Given the description of an element on the screen output the (x, y) to click on. 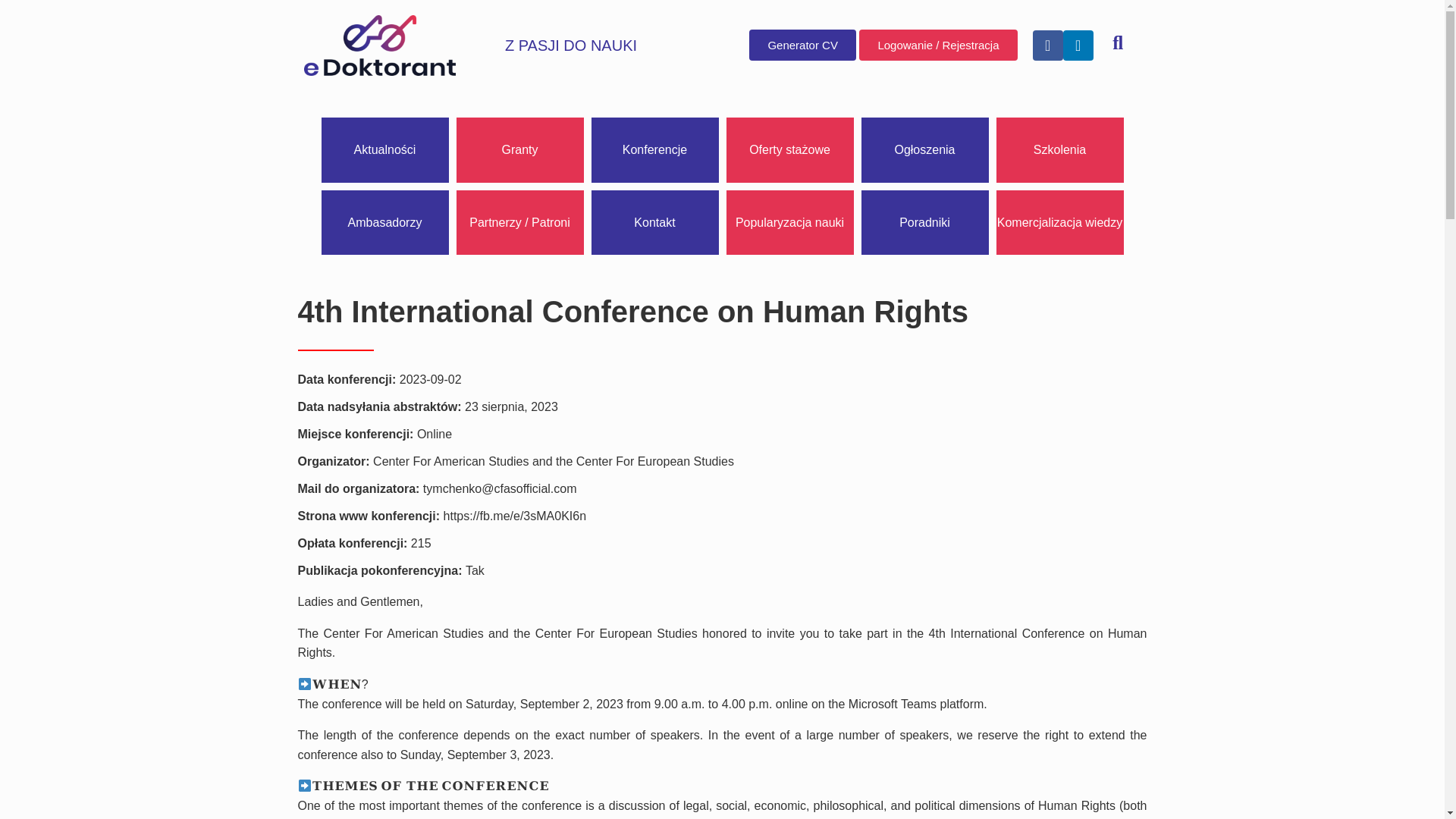
Ambasadorzy (384, 222)
Granty (520, 149)
Poradniki (924, 222)
Popularyzacja nauki (789, 222)
Generator CV (802, 44)
Komercjalizacja wiedzy (1059, 222)
Kontakt (655, 222)
Szkolenia (1059, 149)
Konferencje (655, 149)
